Given the description of an element on the screen output the (x, y) to click on. 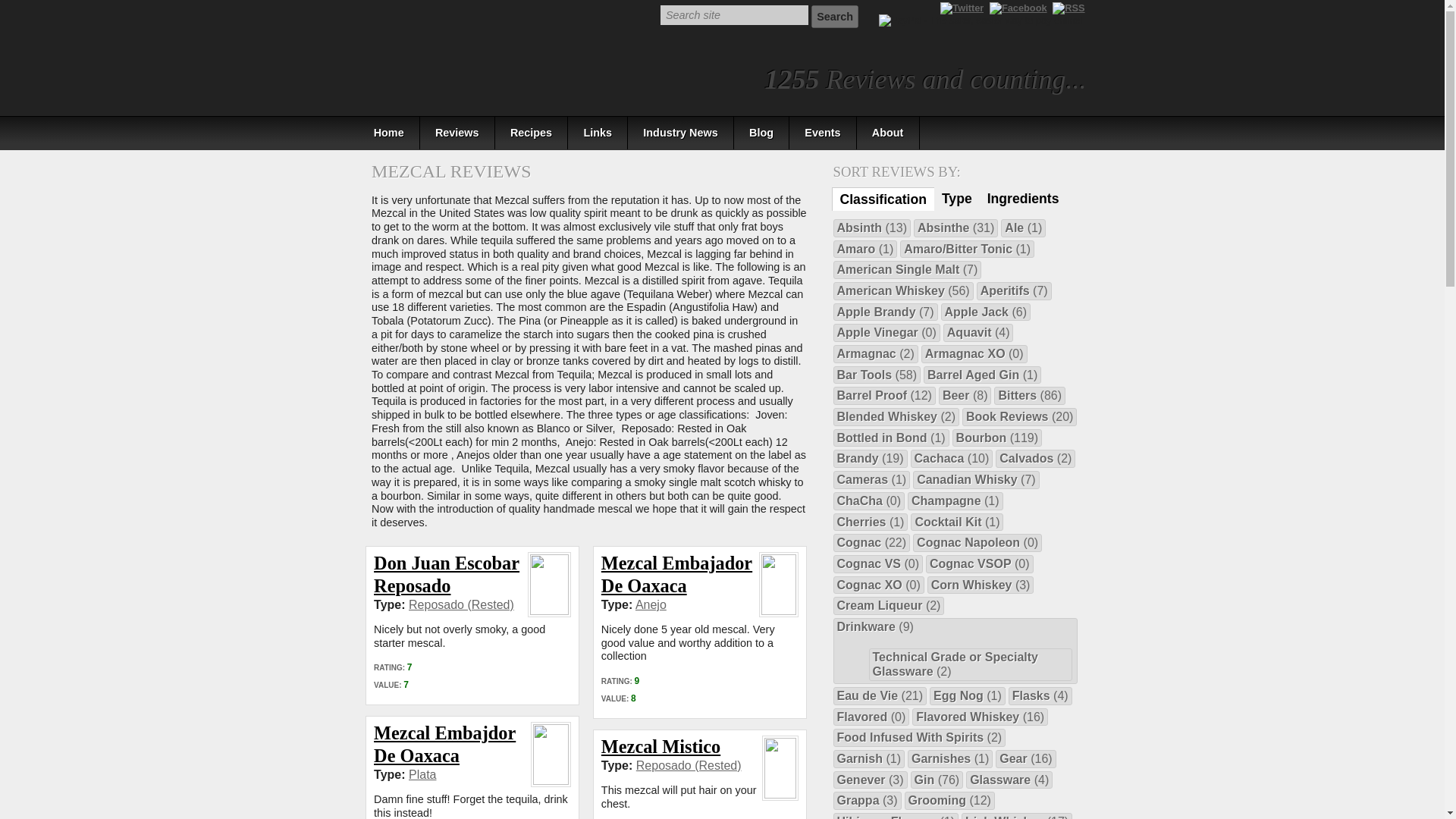
Blog (761, 133)
About (888, 133)
Links (597, 133)
Mezcal Embajador De Oaxaca (676, 574)
Recipes (532, 133)
Home (388, 133)
Events (823, 133)
Mezcal Embajdor De Oaxaca (444, 743)
Plata (422, 774)
Mezcal Mistico (660, 746)
